Given the description of an element on the screen output the (x, y) to click on. 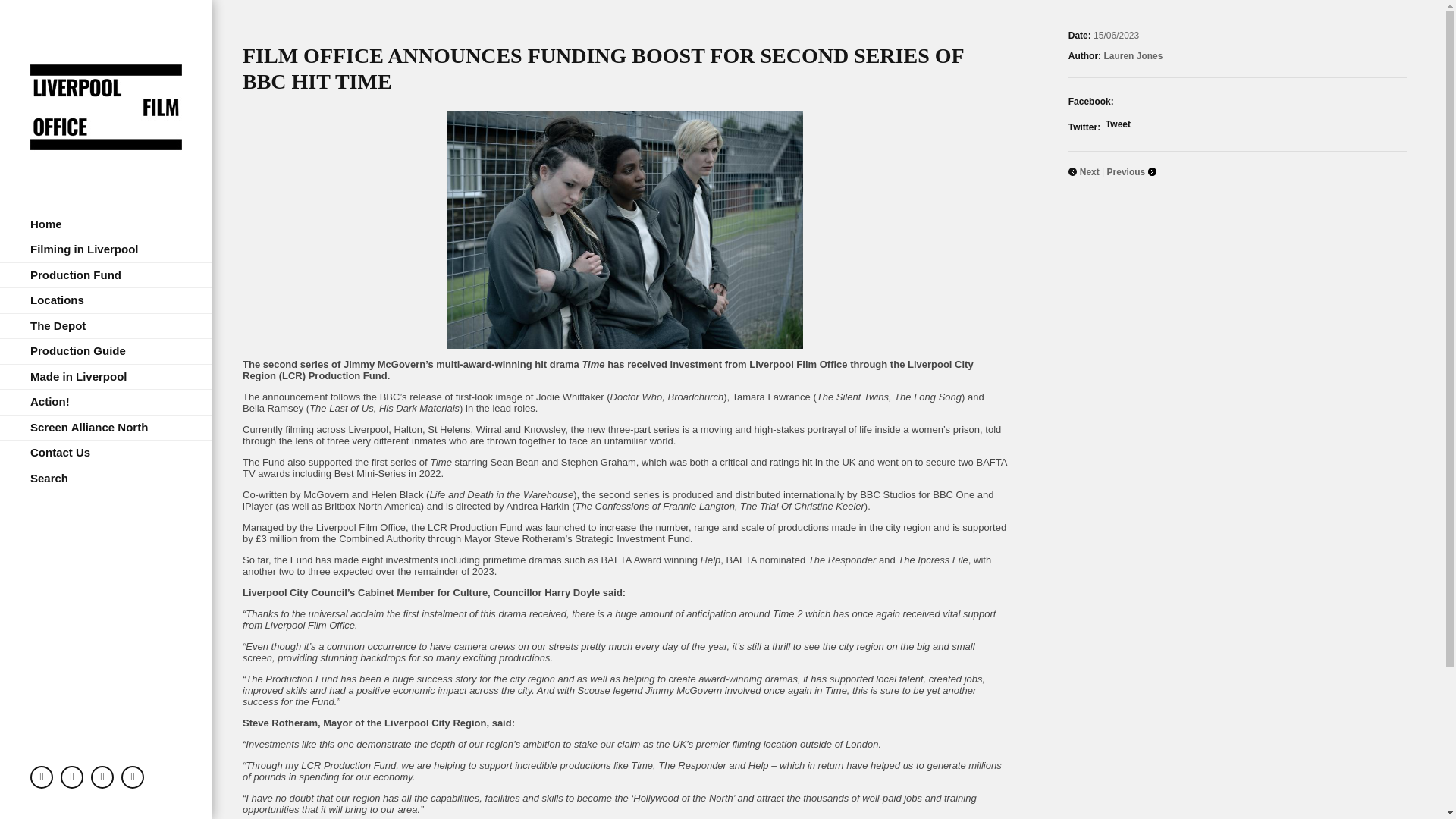
Contact Us (106, 453)
Screen Alliance North (106, 427)
Action! (106, 401)
Liverpool Film Office (106, 105)
Home (106, 224)
Locations (106, 300)
Posts by Lauren Jones (1132, 55)
Filming in Liverpool (106, 249)
Made in Liverpool (106, 376)
Production Guide (106, 351)
Search (106, 478)
Liverpool Film Office (106, 105)
The Depot (106, 326)
Production Fund (106, 275)
